Given the description of an element on the screen output the (x, y) to click on. 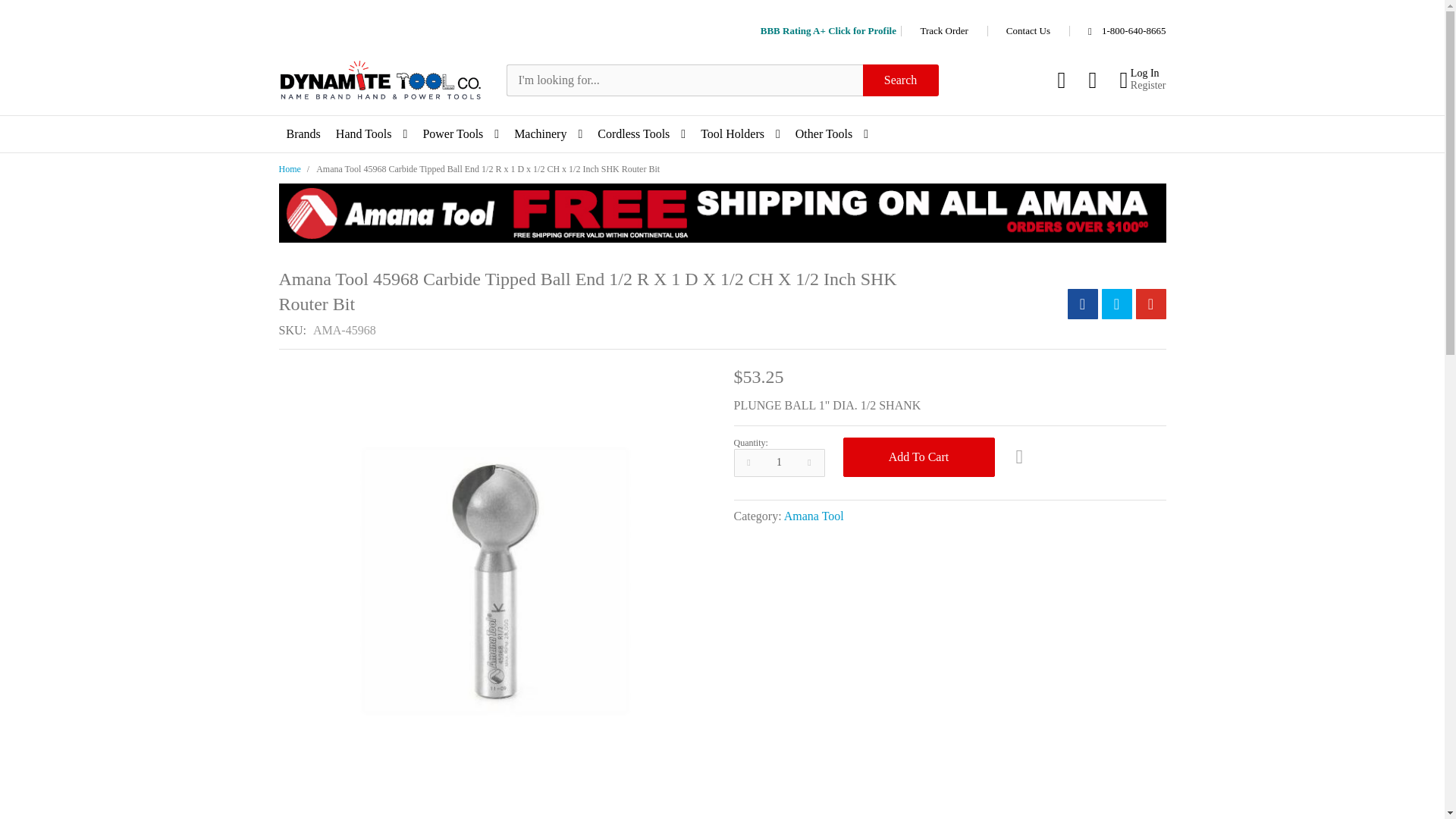
Contact Us (1027, 30)
Add to Cart (918, 456)
1 (779, 462)
Share on Facebook (1082, 304)
Share on Twitter (1115, 304)
Qty (779, 462)
Track Order (944, 30)
Go to Home Page (290, 168)
Search (901, 80)
Share via Gmail (1150, 304)
